Given the description of an element on the screen output the (x, y) to click on. 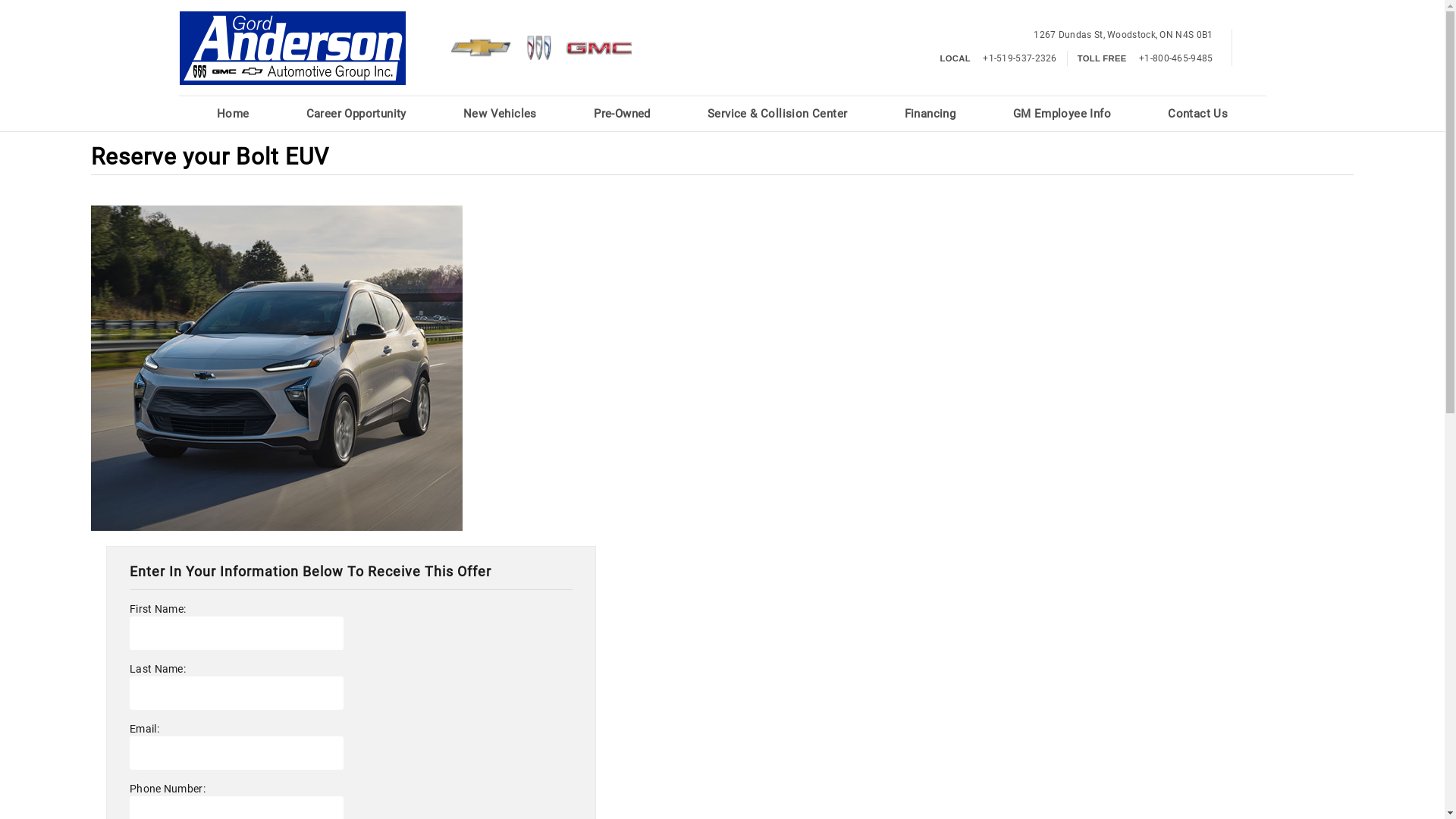
Pre-Owned Element type: text (621, 113)
Financing Element type: text (930, 113)
1267 Dundas St,
Woodstock, ON N4S 0B1 Element type: text (1122, 34)
Service & Collision Center Element type: text (777, 113)
LOCAL +1-519-537-2326 Element type: text (998, 57)
Career Opportunity Element type: text (356, 113)
New Vehicles Element type: text (499, 113)
Contact Us Element type: text (1197, 113)
Reserve your Bolt EUV Element type: hover (276, 367)
TOLL FREE +1-800-465-9485 Element type: text (1145, 57)
GM Employee Info Element type: text (1061, 113)
Home Element type: text (232, 113)
